Given the description of an element on the screen output the (x, y) to click on. 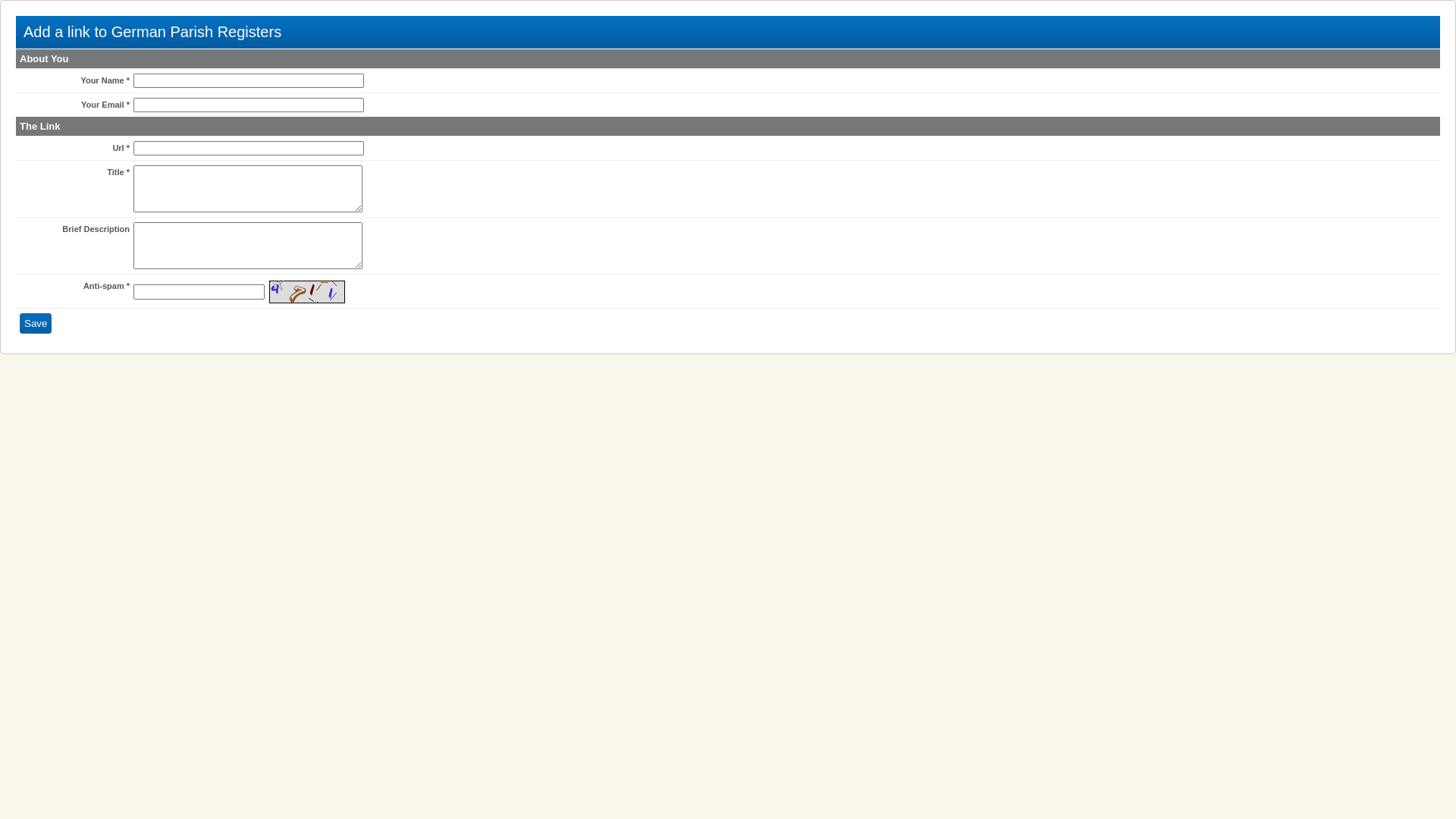
Reload Image Element type: hover (307, 299)
Save Element type: text (35, 323)
